Given the description of an element on the screen output the (x, y) to click on. 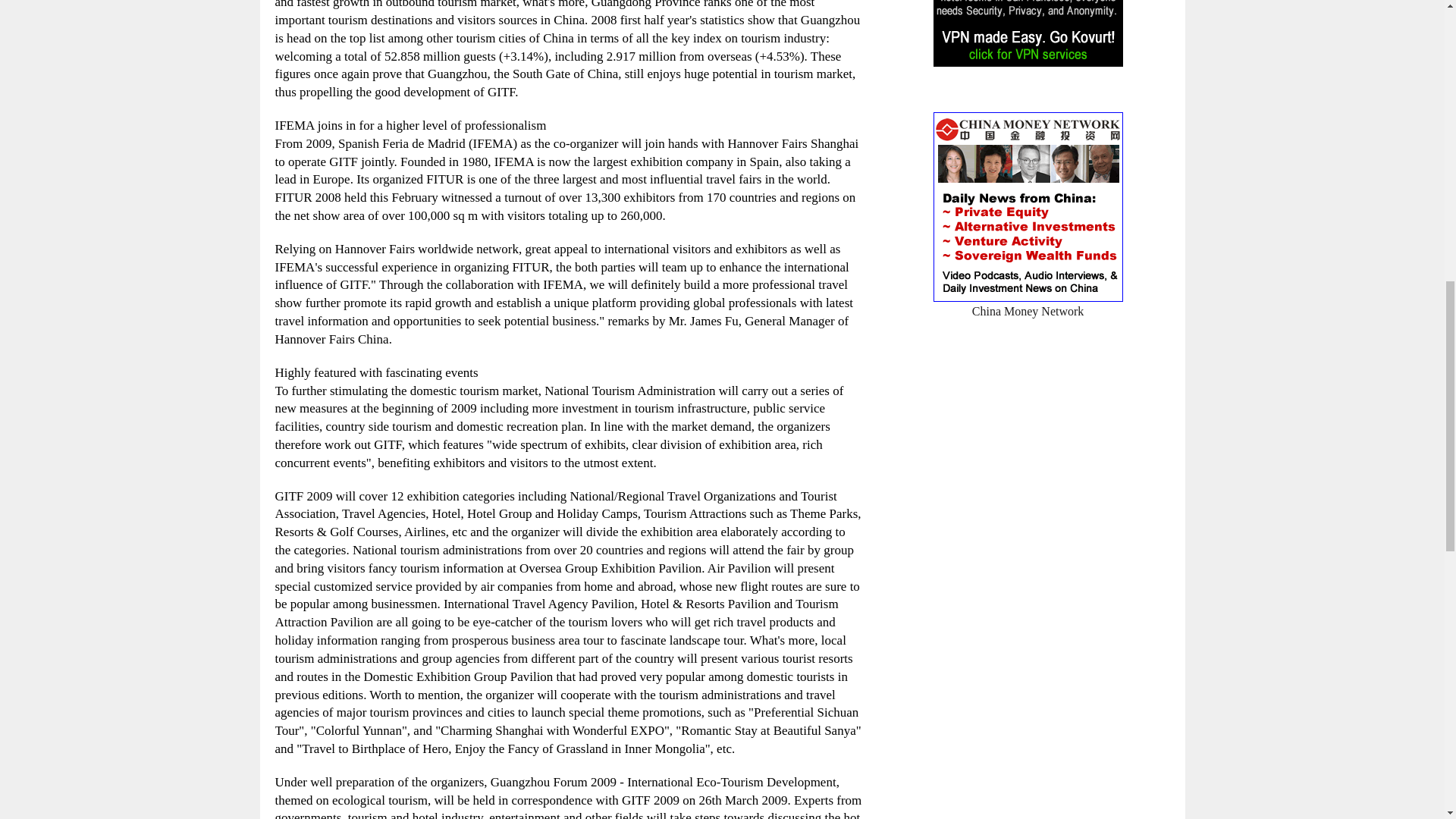
China Money Network - Finance and Investment News Daily (1027, 301)
China Money Network (1027, 301)
